Given the description of an element on the screen output the (x, y) to click on. 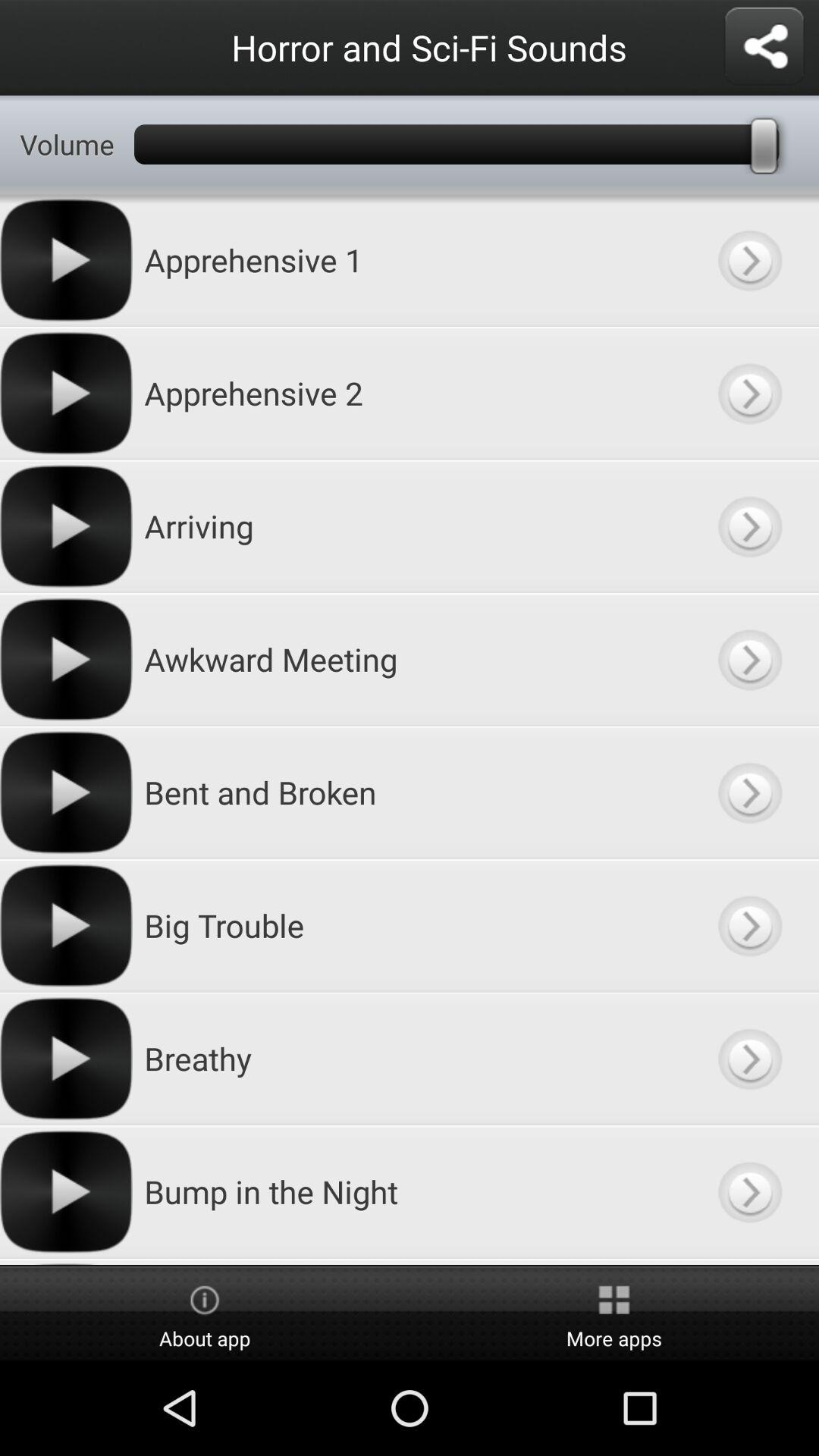
details (749, 925)
